Given the description of an element on the screen output the (x, y) to click on. 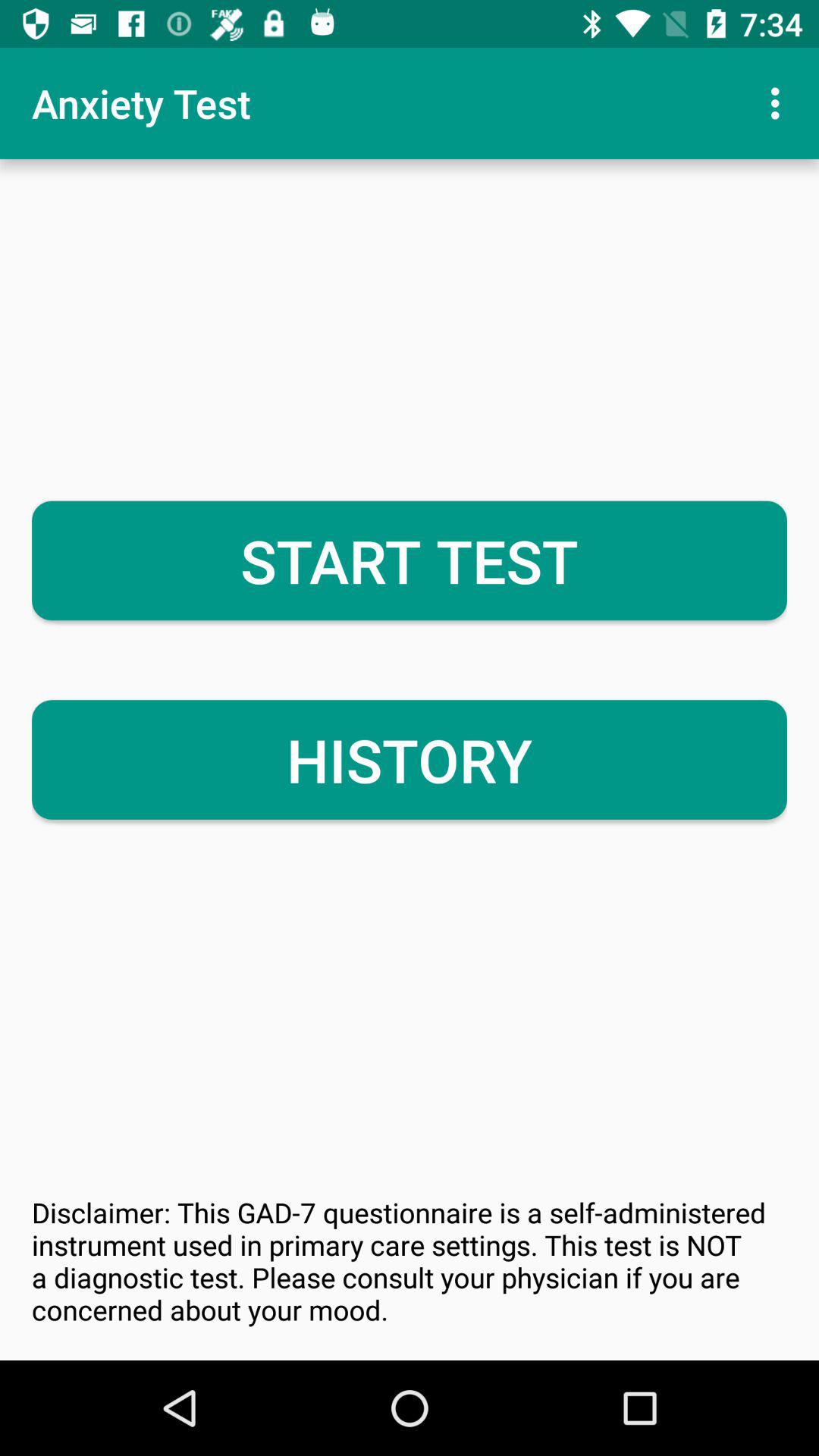
turn on the item next to the anxiety test item (779, 103)
